Given the description of an element on the screen output the (x, y) to click on. 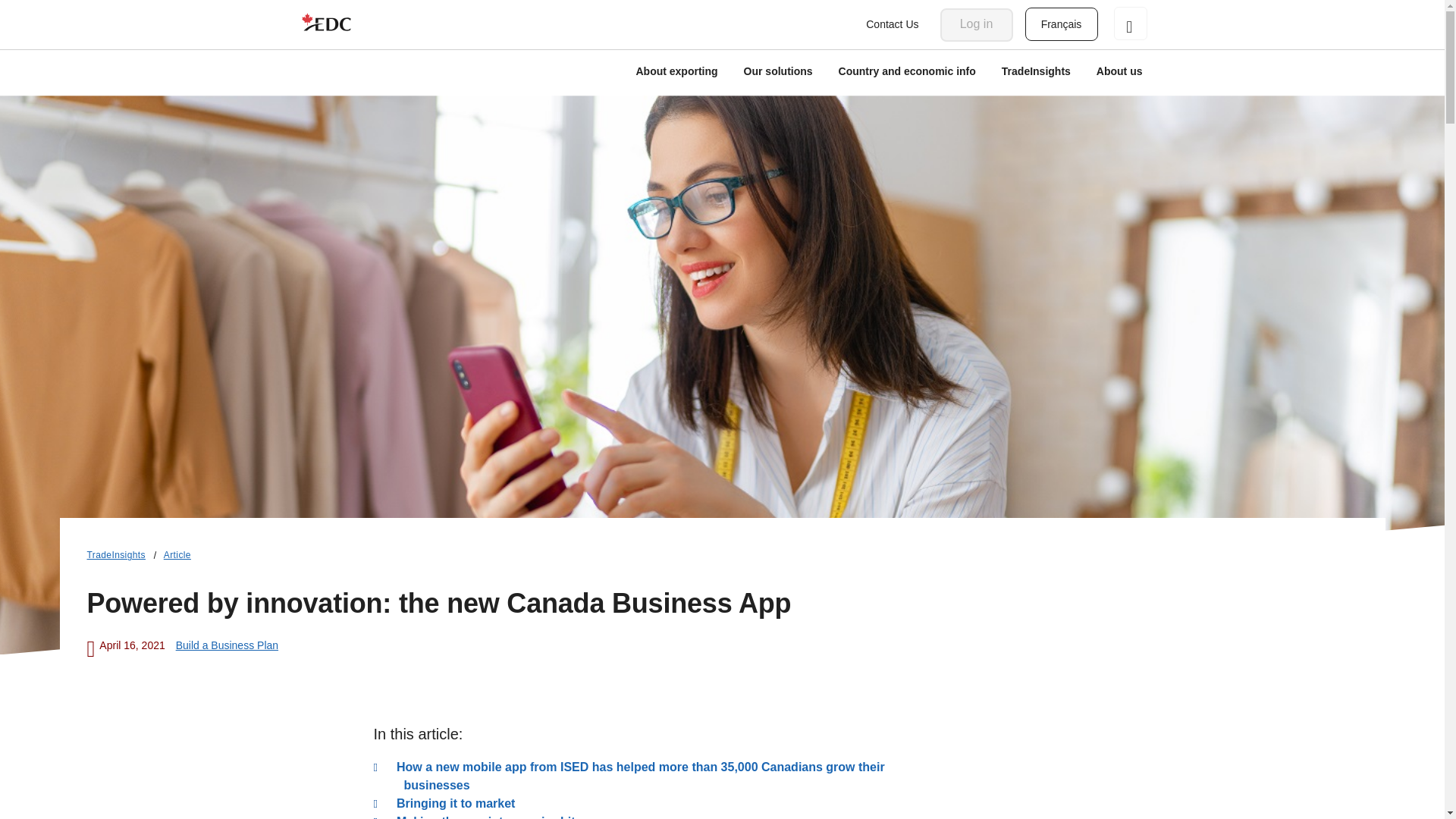
About exporting (676, 72)
Log in (976, 23)
Contact Us (892, 24)
Our solutions (778, 72)
